Given the description of an element on the screen output the (x, y) to click on. 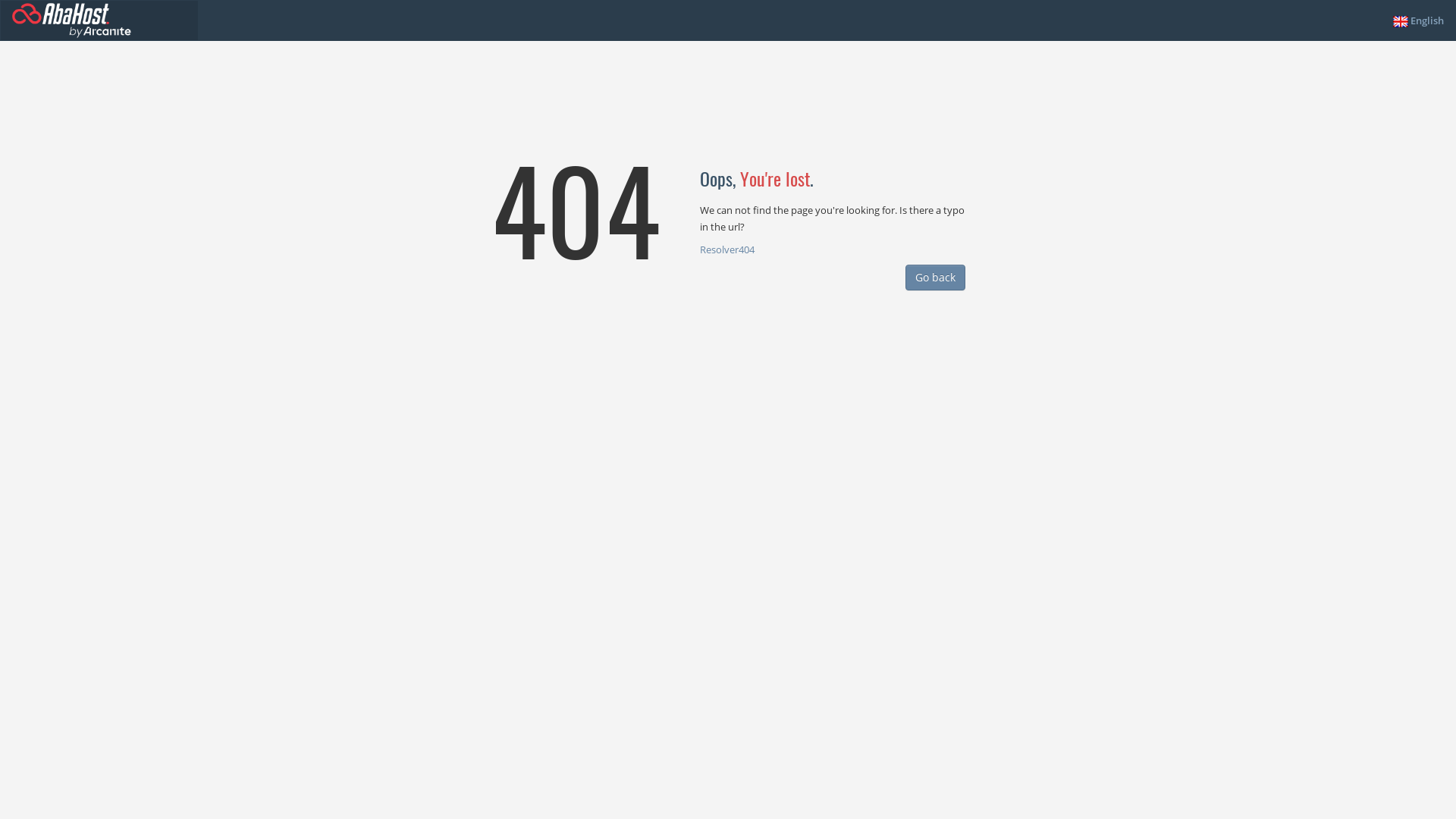
Go back Element type: text (935, 277)
English Element type: text (1418, 20)
